Given the description of an element on the screen output the (x, y) to click on. 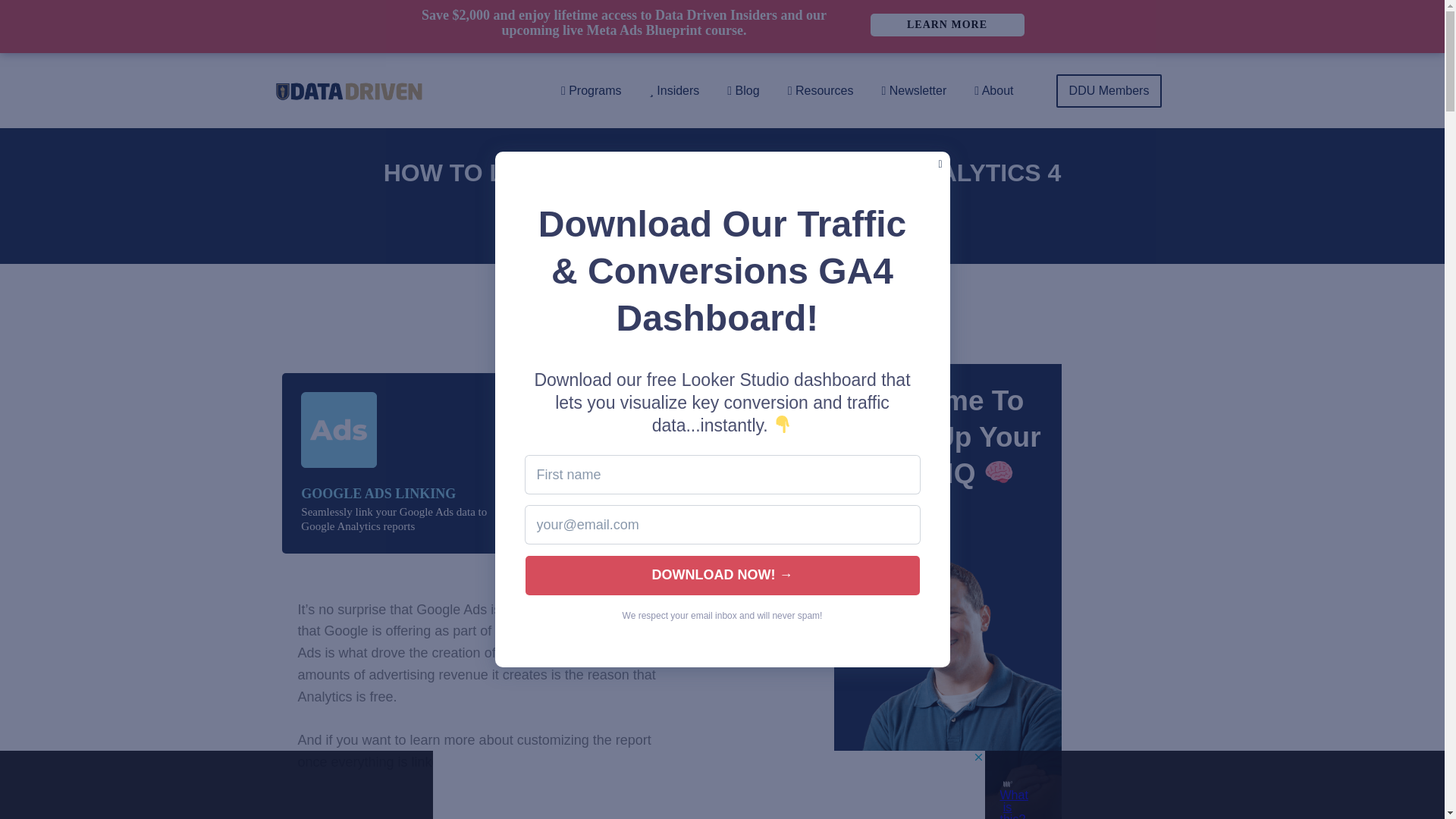
About (993, 90)
3rd party ad content (708, 785)
DDU Members (1109, 90)
Newsletter (913, 90)
Programs (590, 90)
Insiders (674, 90)
Resources (821, 90)
Blog (742, 90)
